Given the description of an element on the screen output the (x, y) to click on. 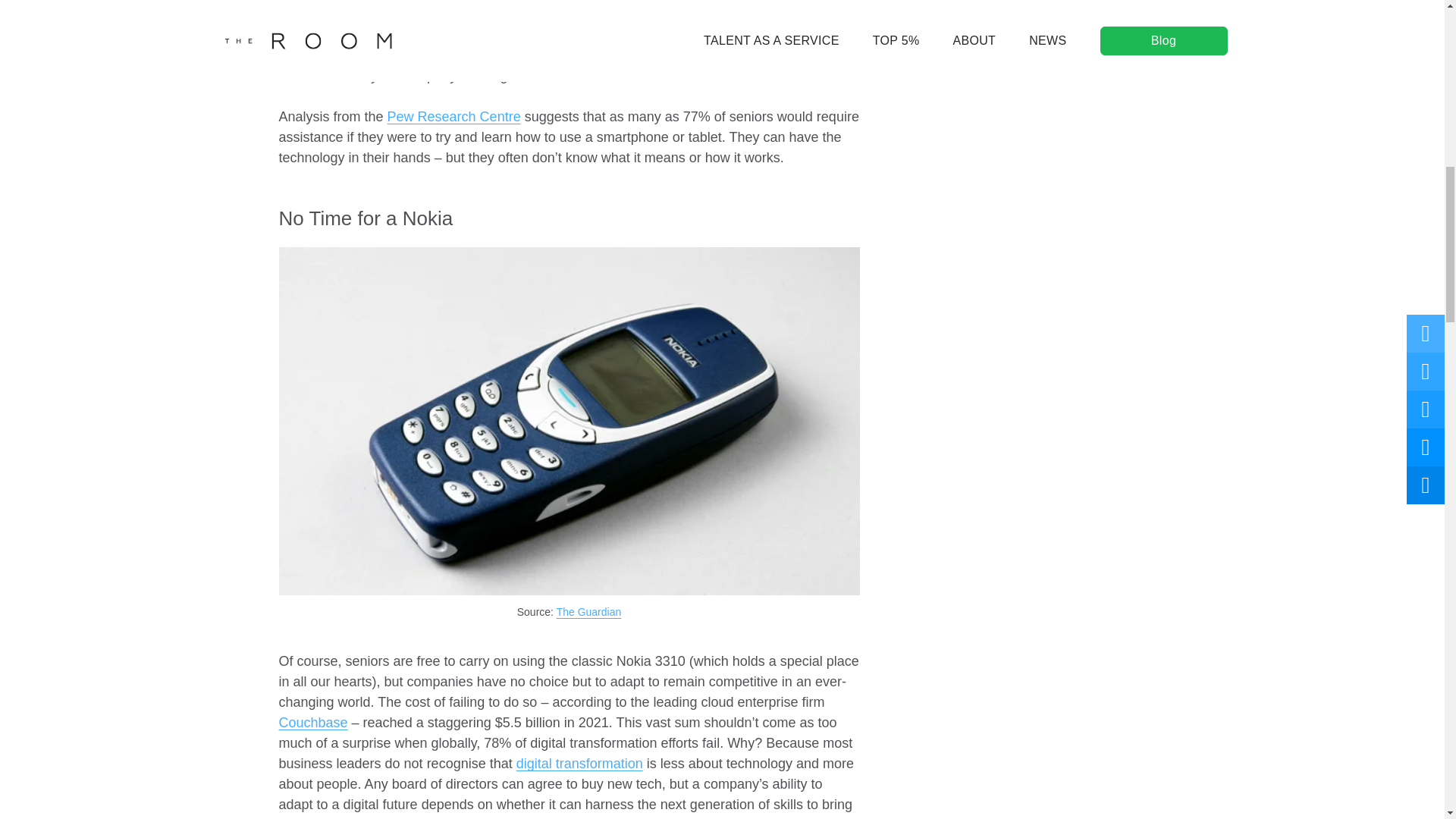
The Guardian (588, 612)
Couchbase (313, 722)
digital transformation (579, 763)
Pew Research Centre (454, 116)
